Given the description of an element on the screen output the (x, y) to click on. 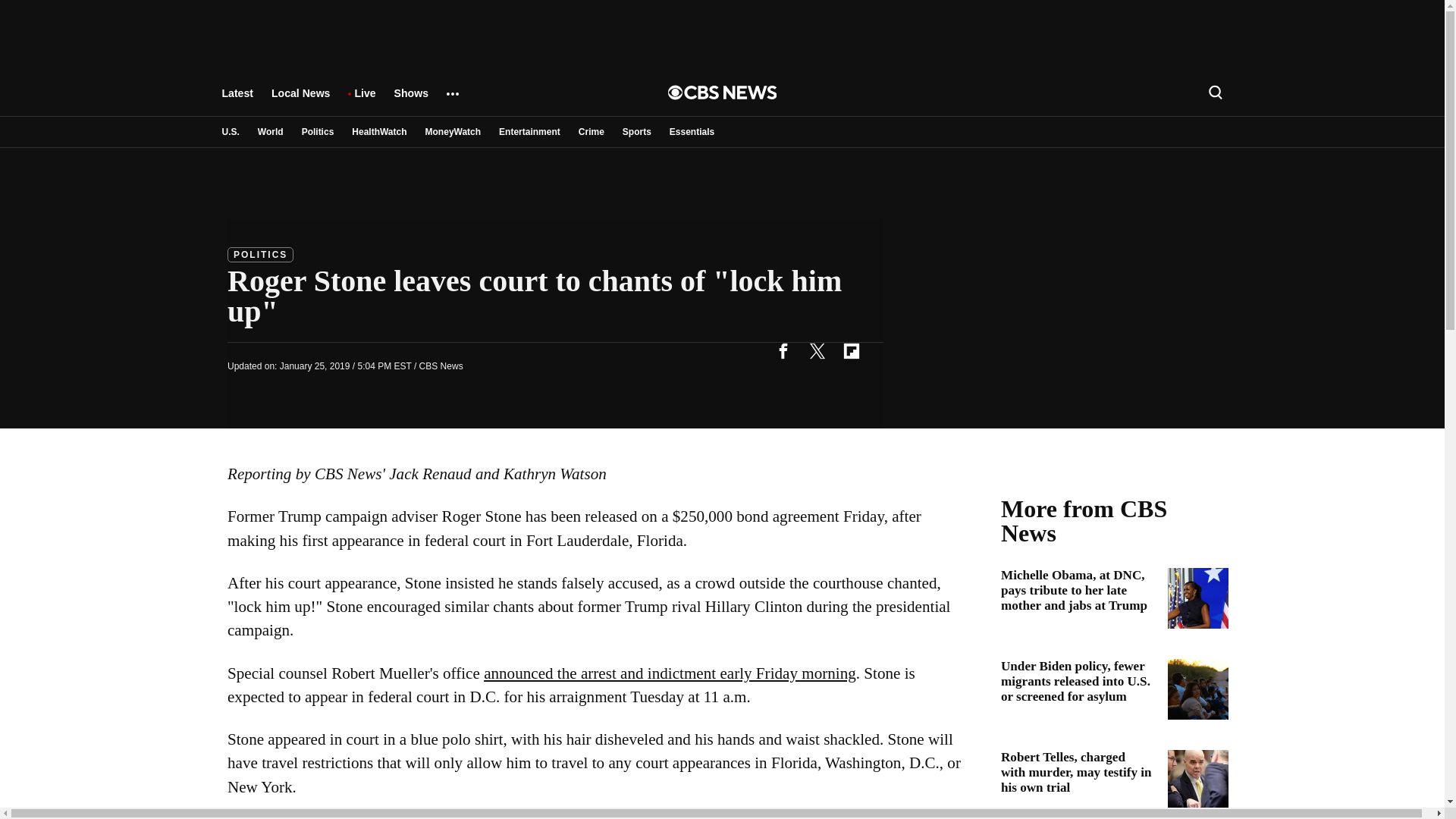
facebook (782, 350)
Local News (300, 100)
flipboard (850, 350)
Latest (236, 100)
twitter (816, 350)
